Given the description of an element on the screen output the (x, y) to click on. 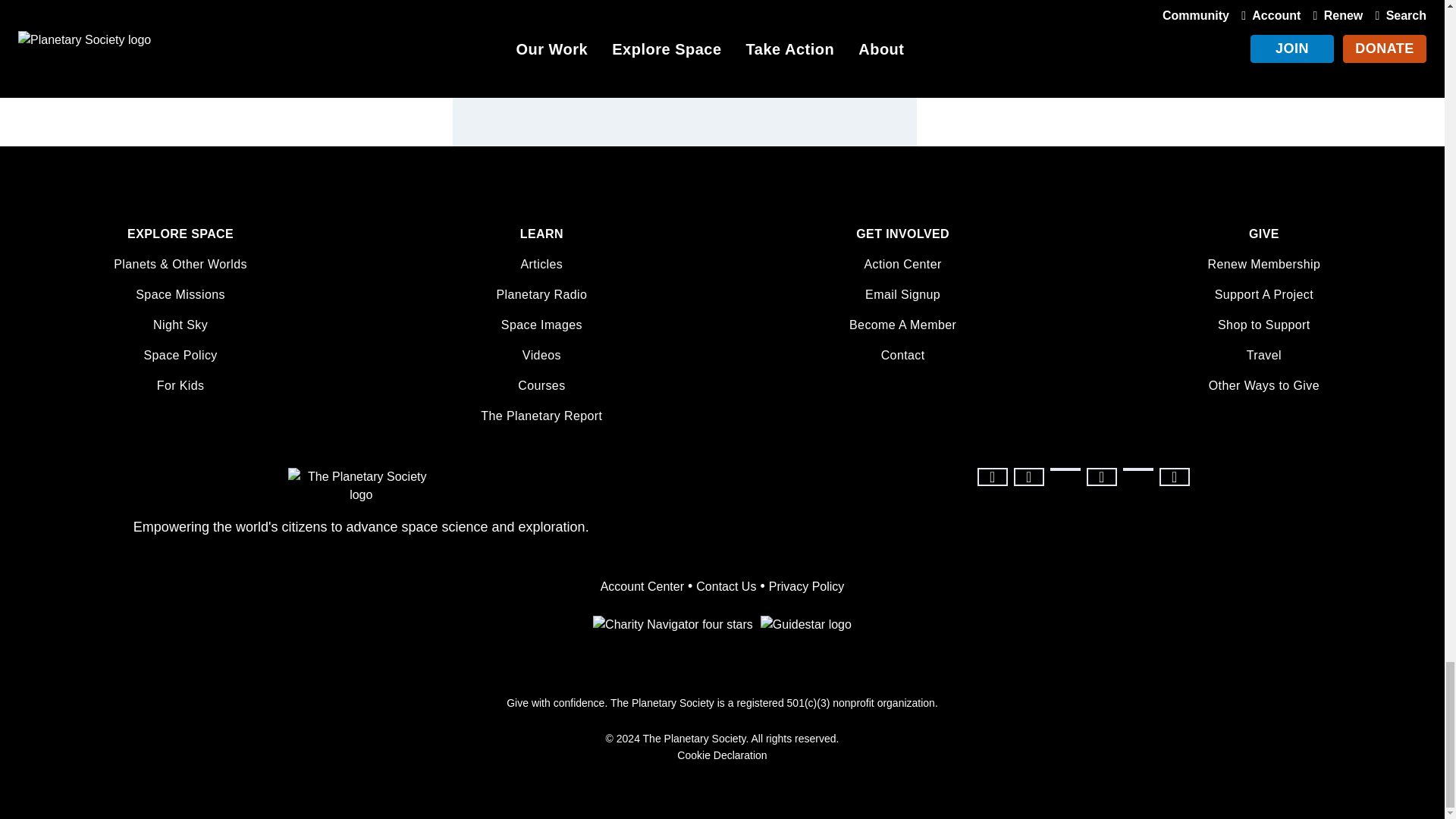
Subscribe (855, 40)
